Given the description of an element on the screen output the (x, y) to click on. 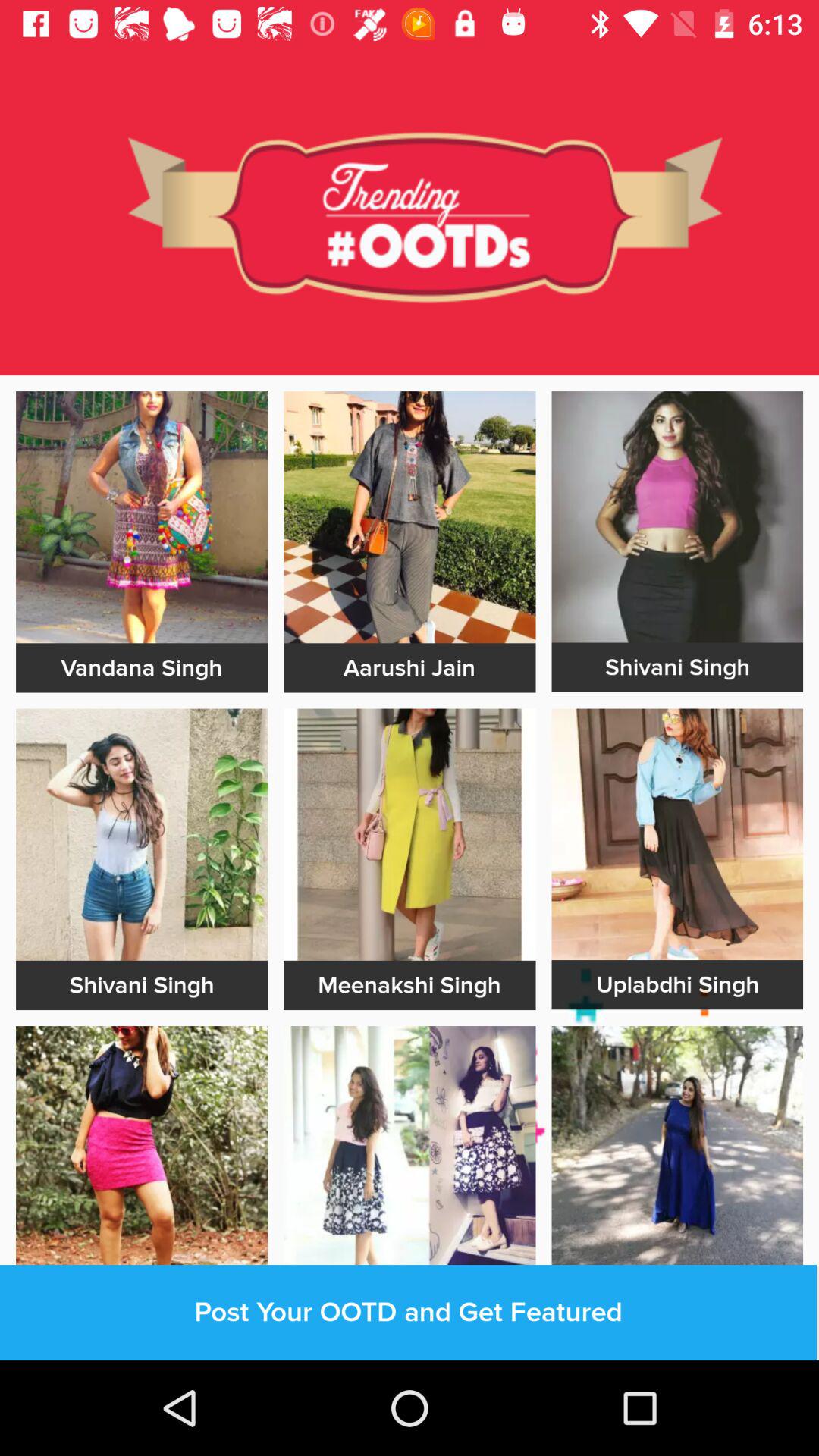
dressing page (409, 1151)
